Given the description of an element on the screen output the (x, y) to click on. 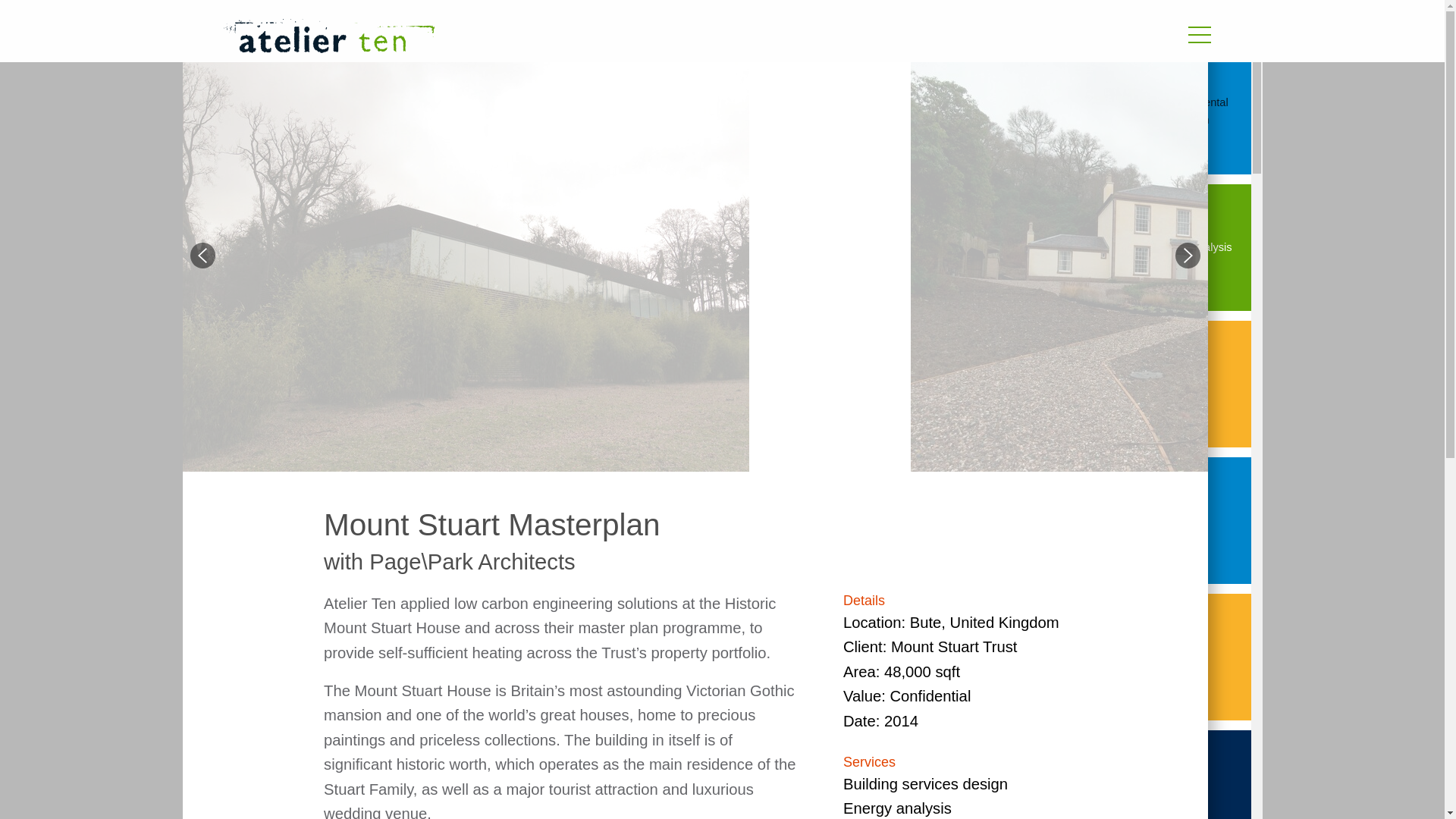
logo (536, 38)
logo (327, 35)
Click to go to the Atelier Ten homepage (536, 38)
